Given the description of an element on the screen output the (x, y) to click on. 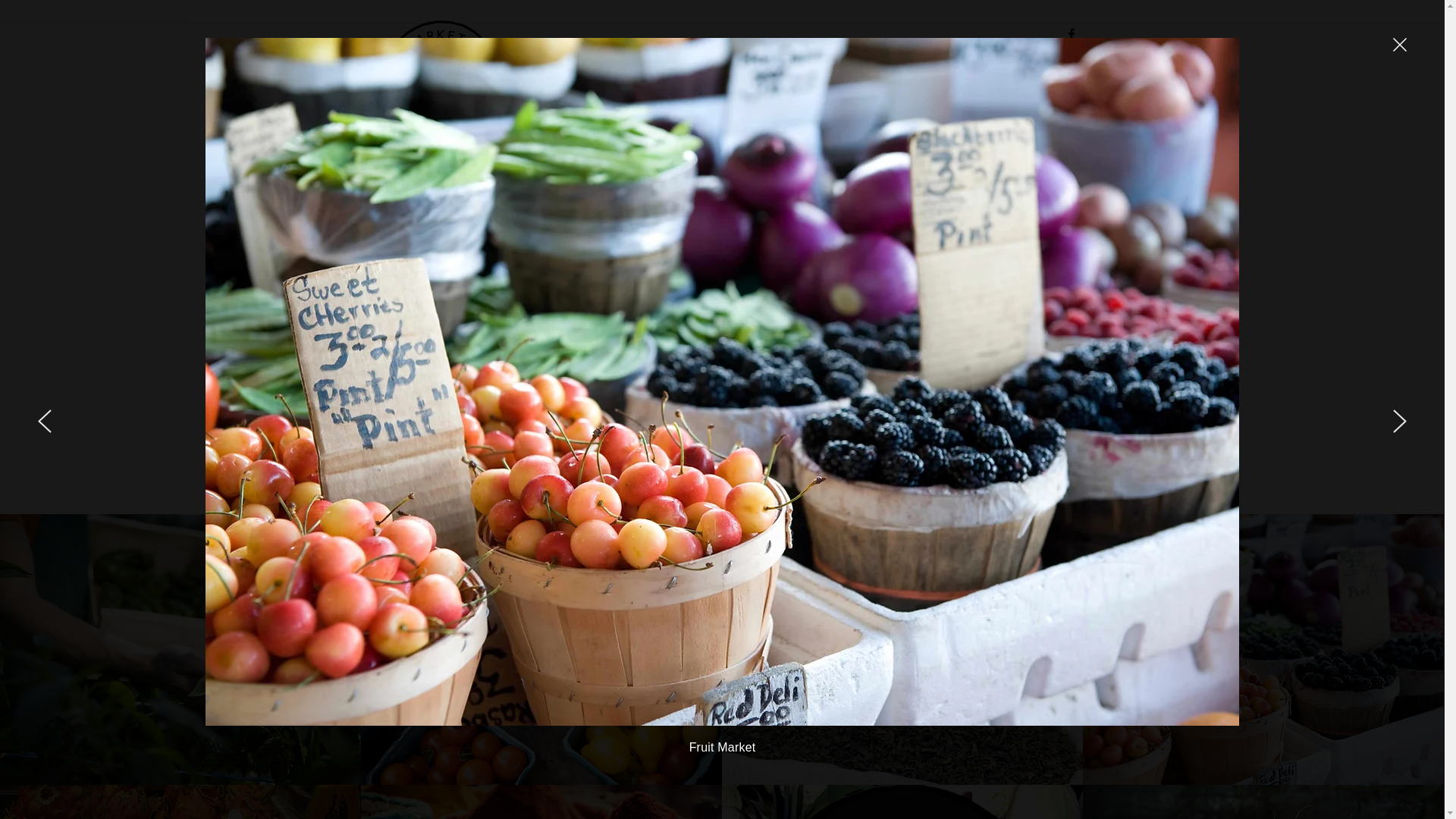
Visit Element type: text (1072, 89)
Apply for a Stall Element type: text (1006, 89)
Home Element type: text (935, 89)
